Given the description of an element on the screen output the (x, y) to click on. 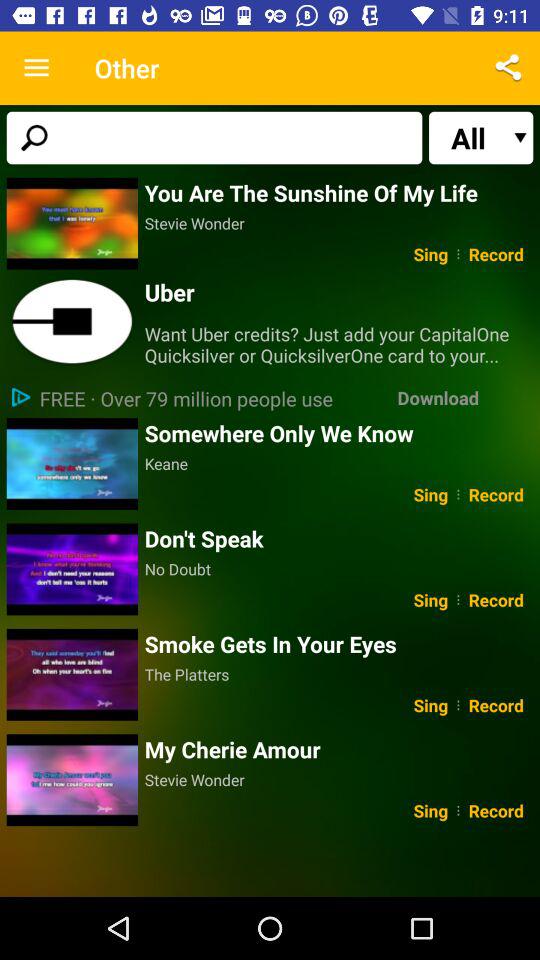
turn off you are the item (338, 192)
